Given the description of an element on the screen output the (x, y) to click on. 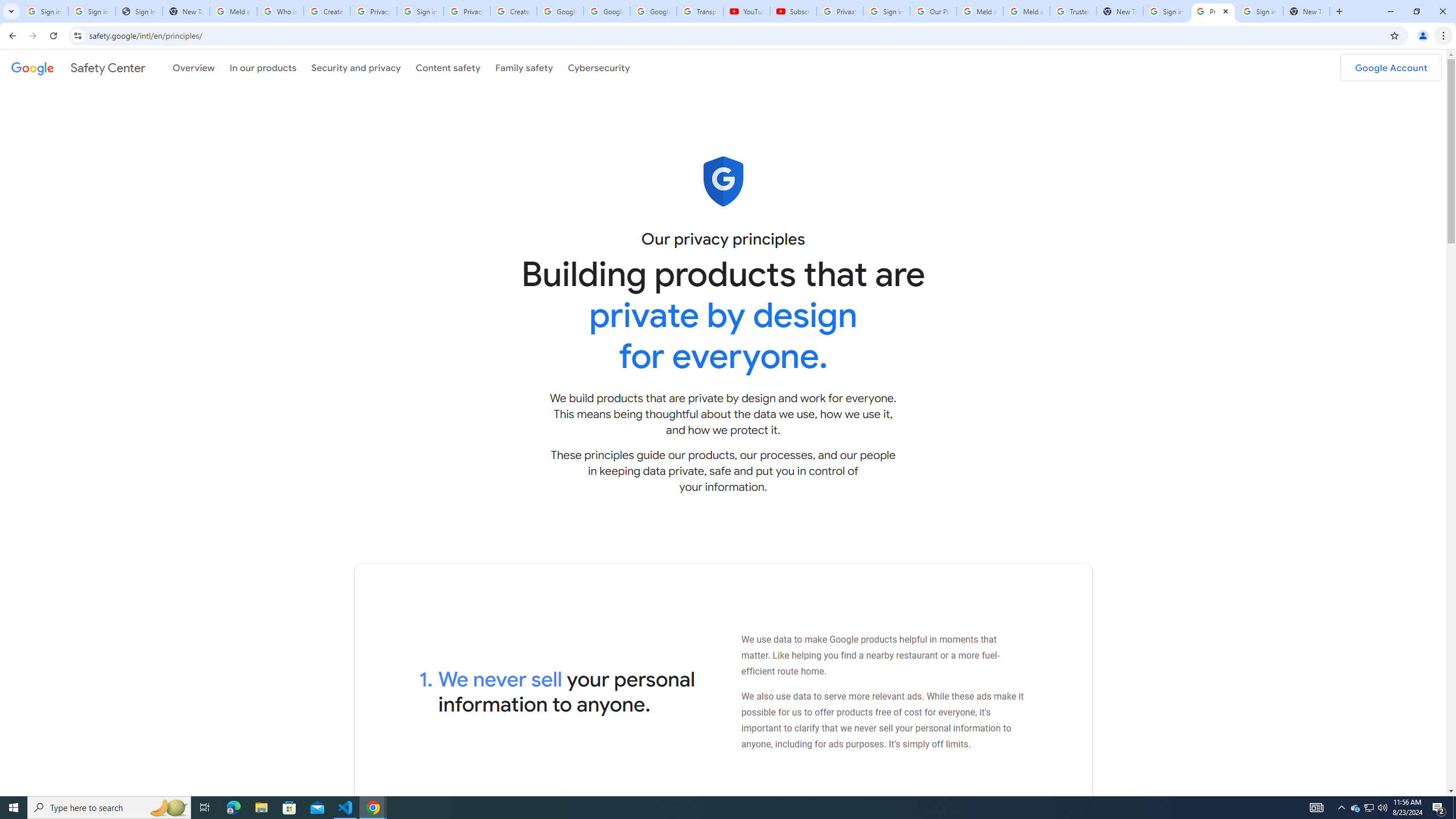
Who is my administrator? - Google Account Help (279, 11)
Sign in - Google Accounts (44, 11)
Safety Center (78, 67)
Create your Google Account (512, 11)
Security and privacy (356, 67)
Create your Google Account (326, 11)
